Given the description of an element on the screen output the (x, y) to click on. 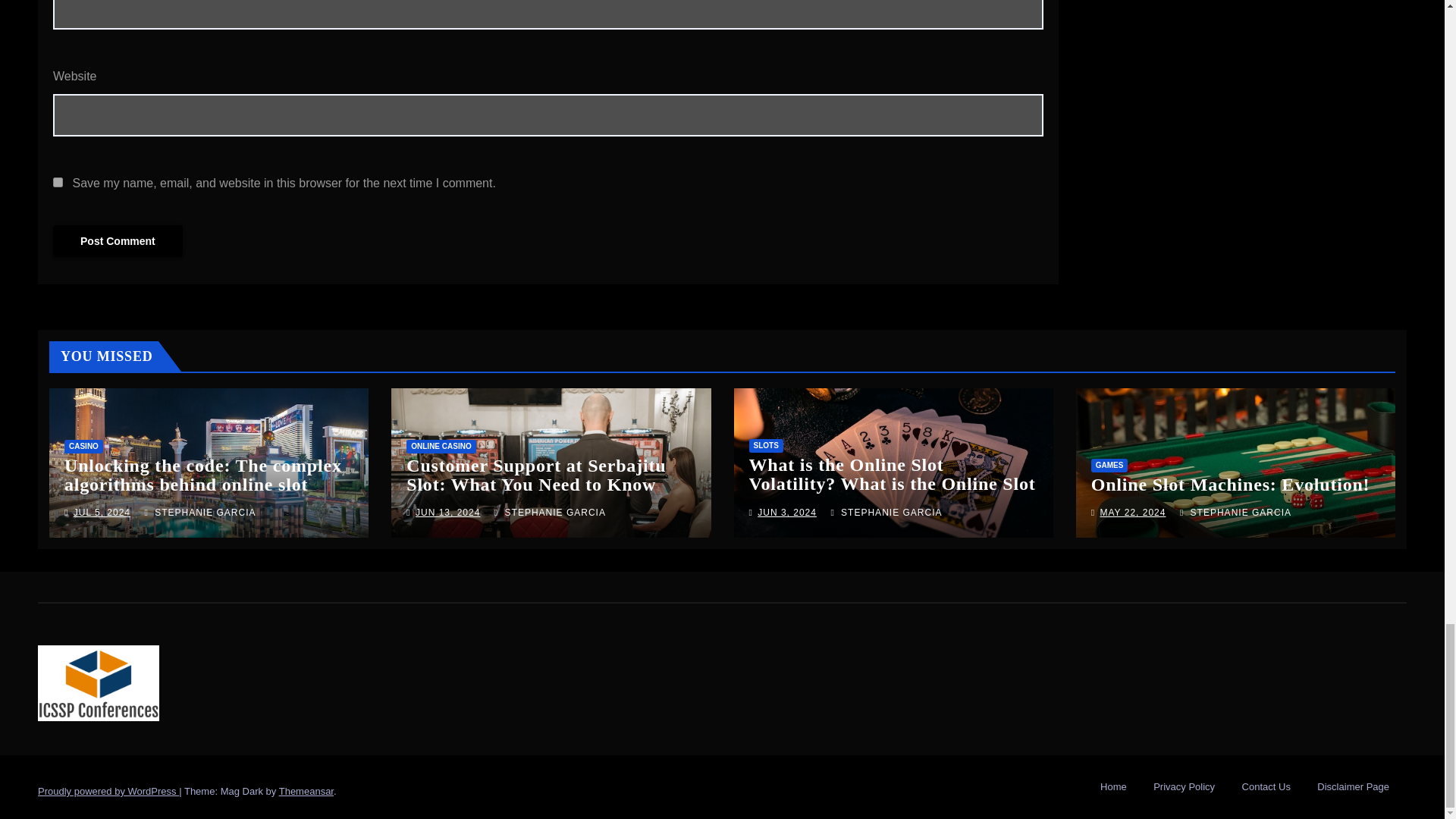
yes (57, 182)
Post Comment (117, 241)
